Given the description of an element on the screen output the (x, y) to click on. 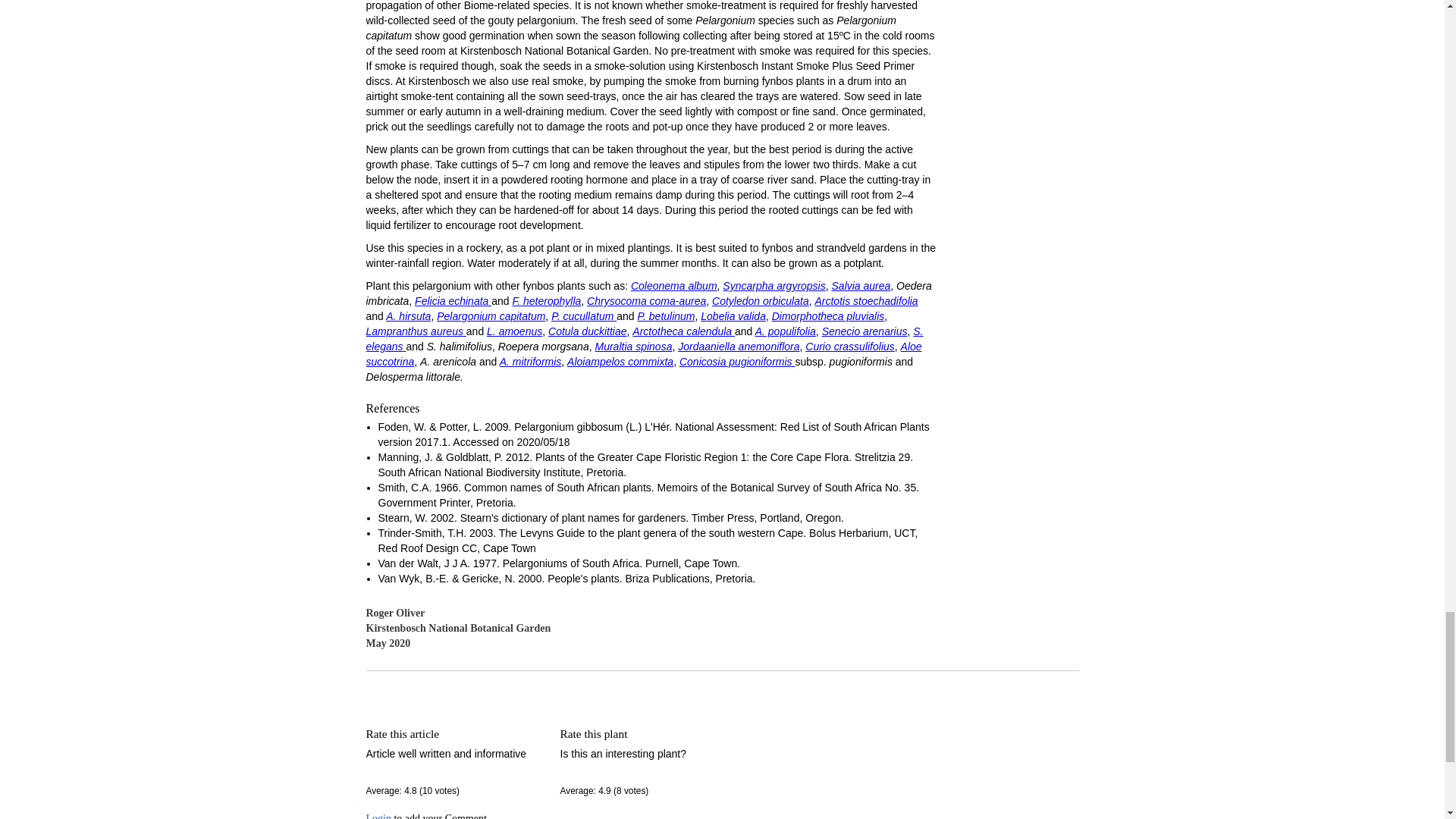
Syncarpha argyropsis (773, 285)
Felicia echinata (453, 300)
Pelargonium capitatum (490, 316)
P. betulinum (665, 316)
Senecio arenarius (864, 331)
Cotyledon orbiculata (760, 300)
Dimorphotheca pluvialis (828, 316)
Arctotis stoechadifolia (865, 300)
A. populifolia (785, 331)
Lampranthus aureus (415, 331)
